Given the description of an element on the screen output the (x, y) to click on. 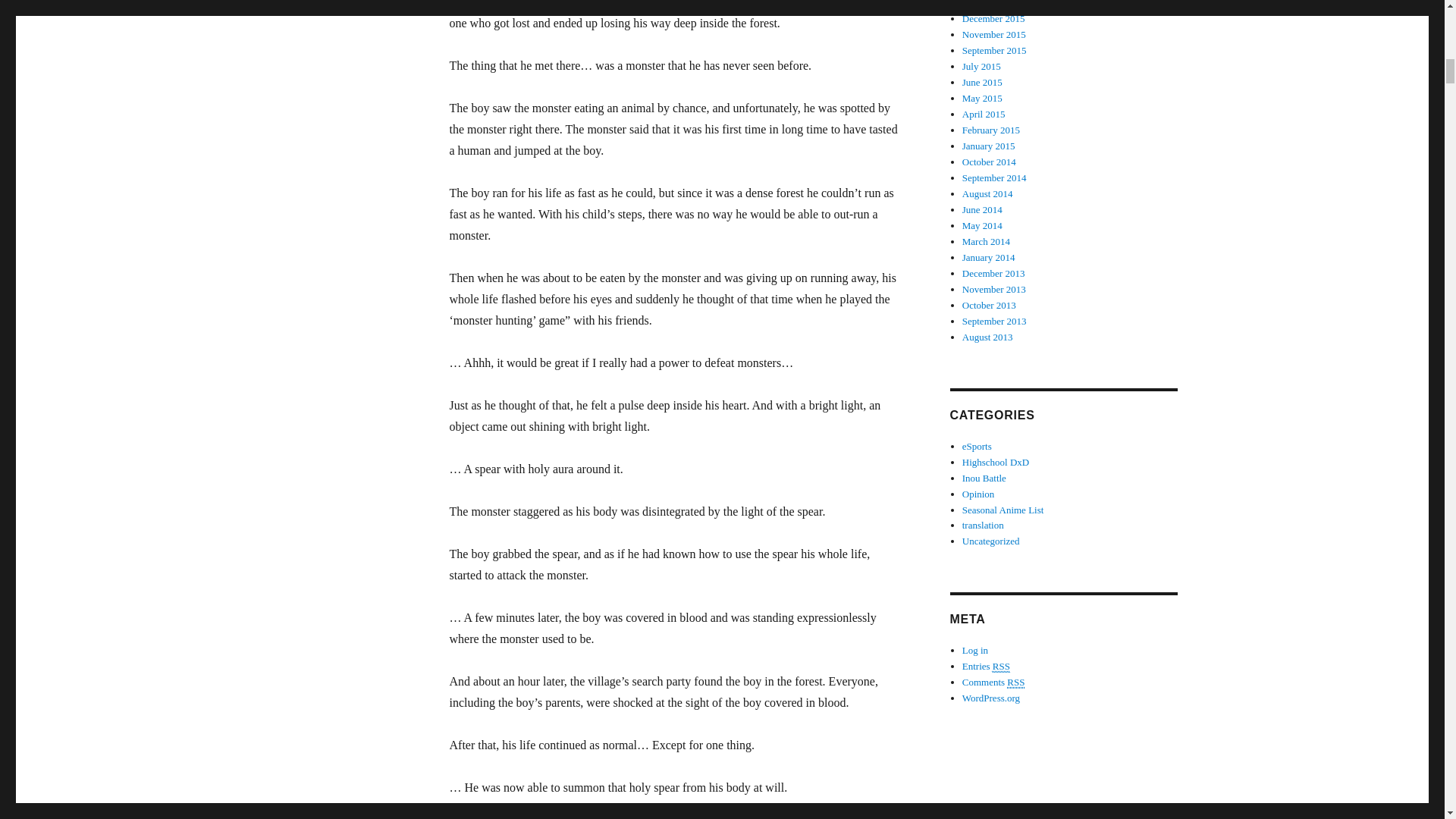
Really Simple Syndication (1001, 666)
Really Simple Syndication (1016, 682)
